Given the description of an element on the screen output the (x, y) to click on. 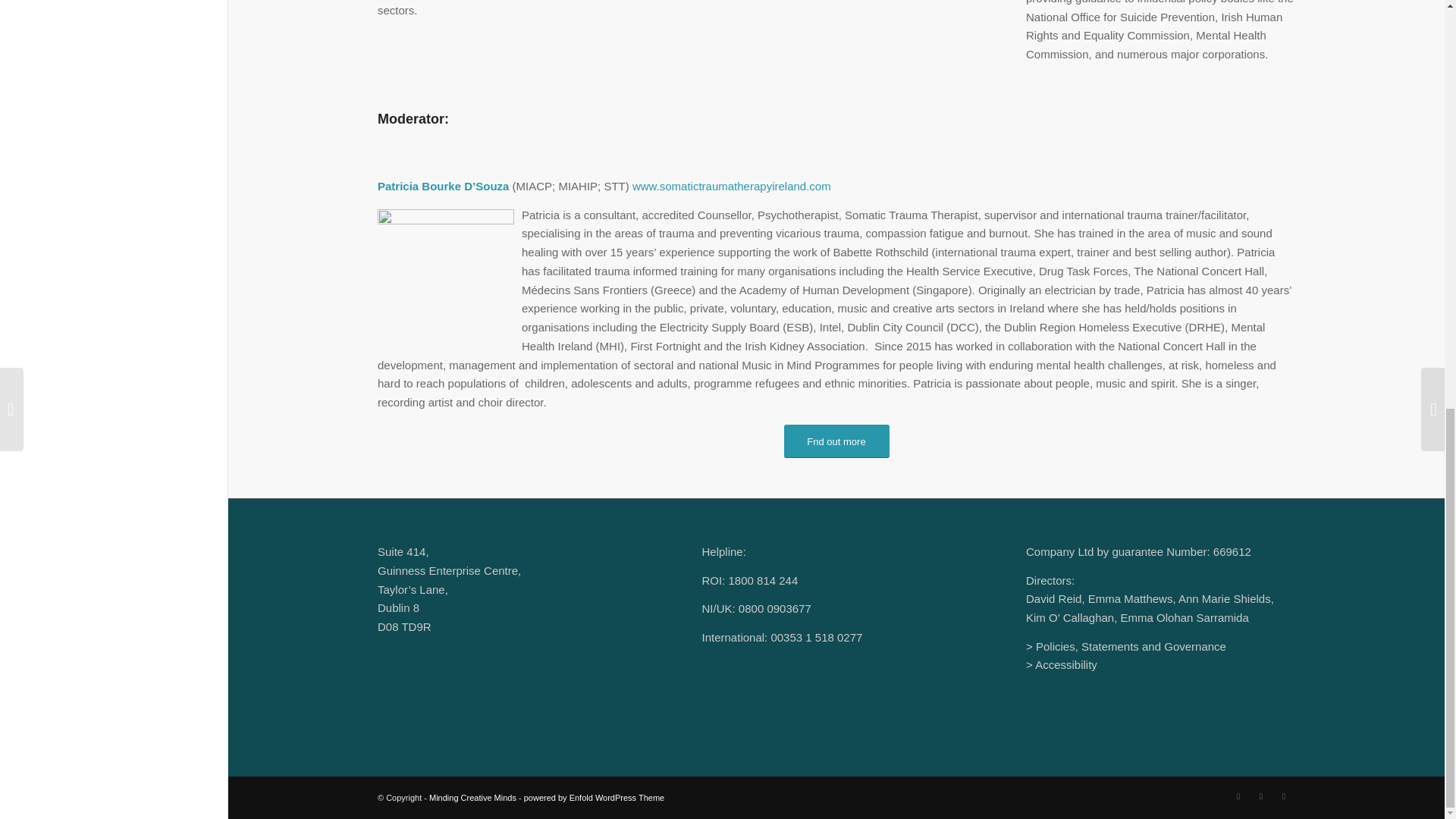
powered by Enfold WordPress Theme (593, 797)
Fnd out more (836, 441)
Facebook (1283, 795)
Twitter (1238, 795)
Minding Creative Minds (472, 797)
Instagram (1260, 795)
www.somatictraumatherapyireland.com (731, 185)
